Given the description of an element on the screen output the (x, y) to click on. 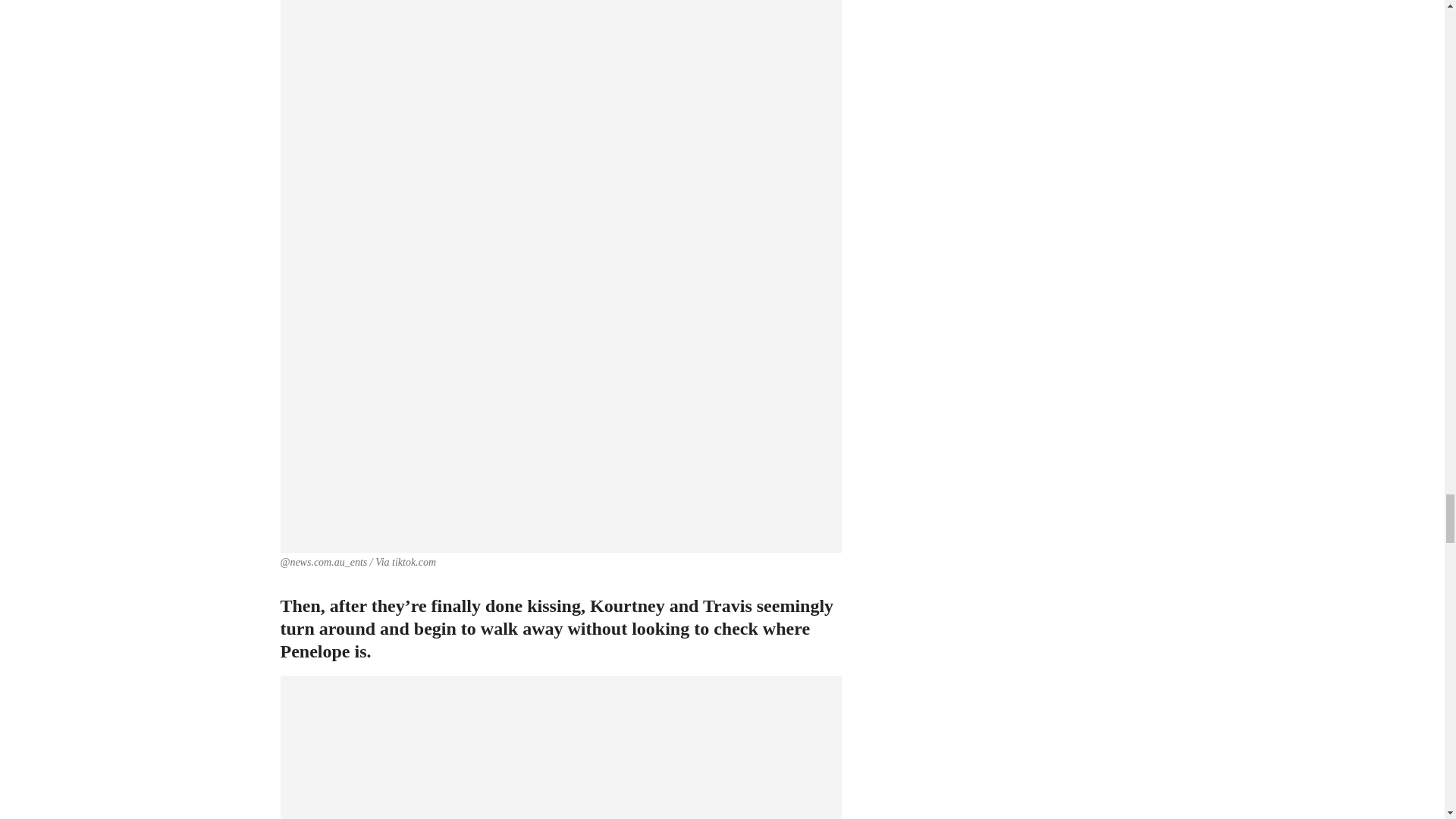
tiktok.com (413, 562)
